Given the description of an element on the screen output the (x, y) to click on. 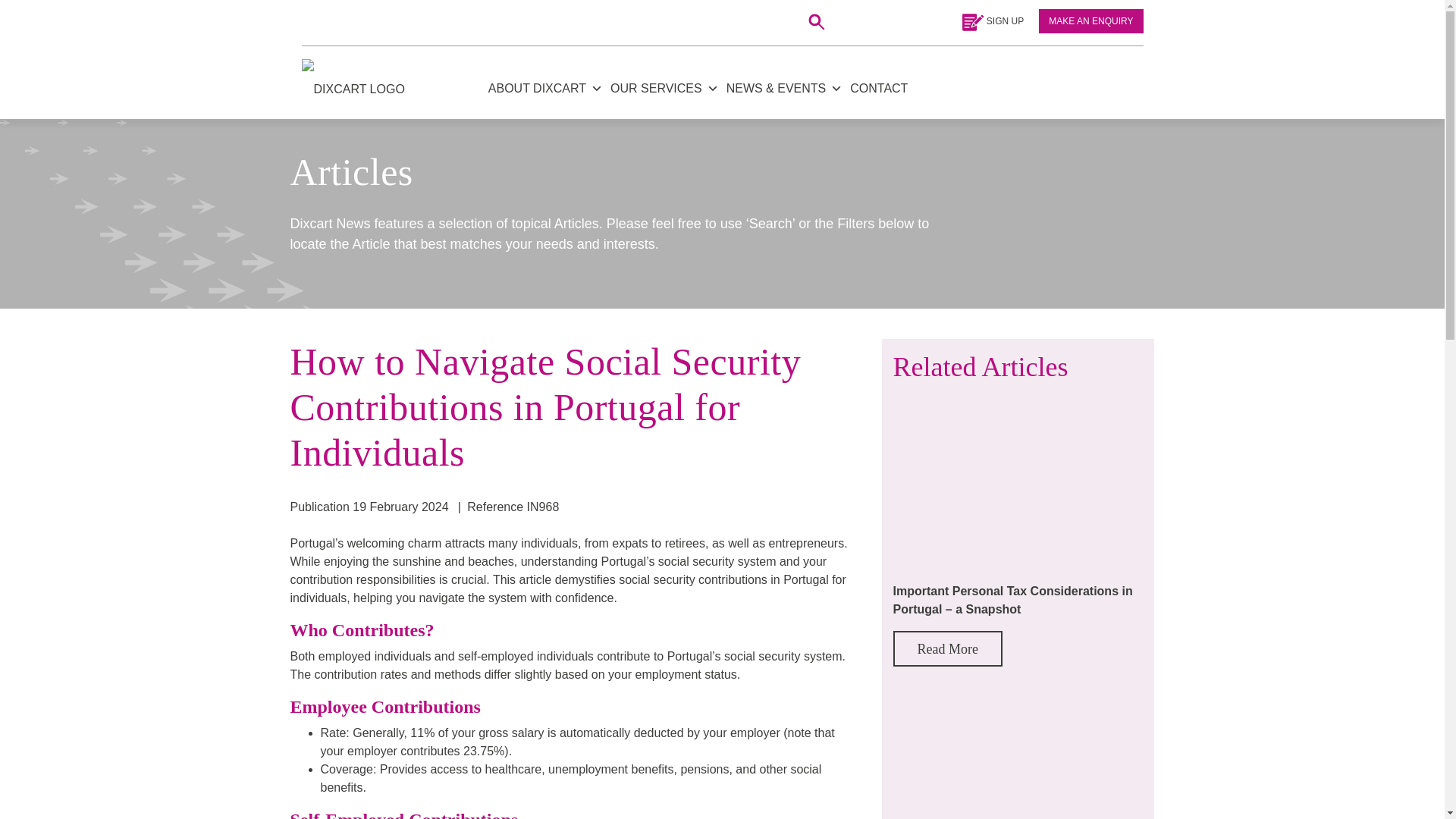
ABOUT DIXCART (544, 88)
MAKE AN ENQUIRY (1090, 21)
SIGN UP (991, 20)
OUR SERVICES (664, 88)
